Given the description of an element on the screen output the (x, y) to click on. 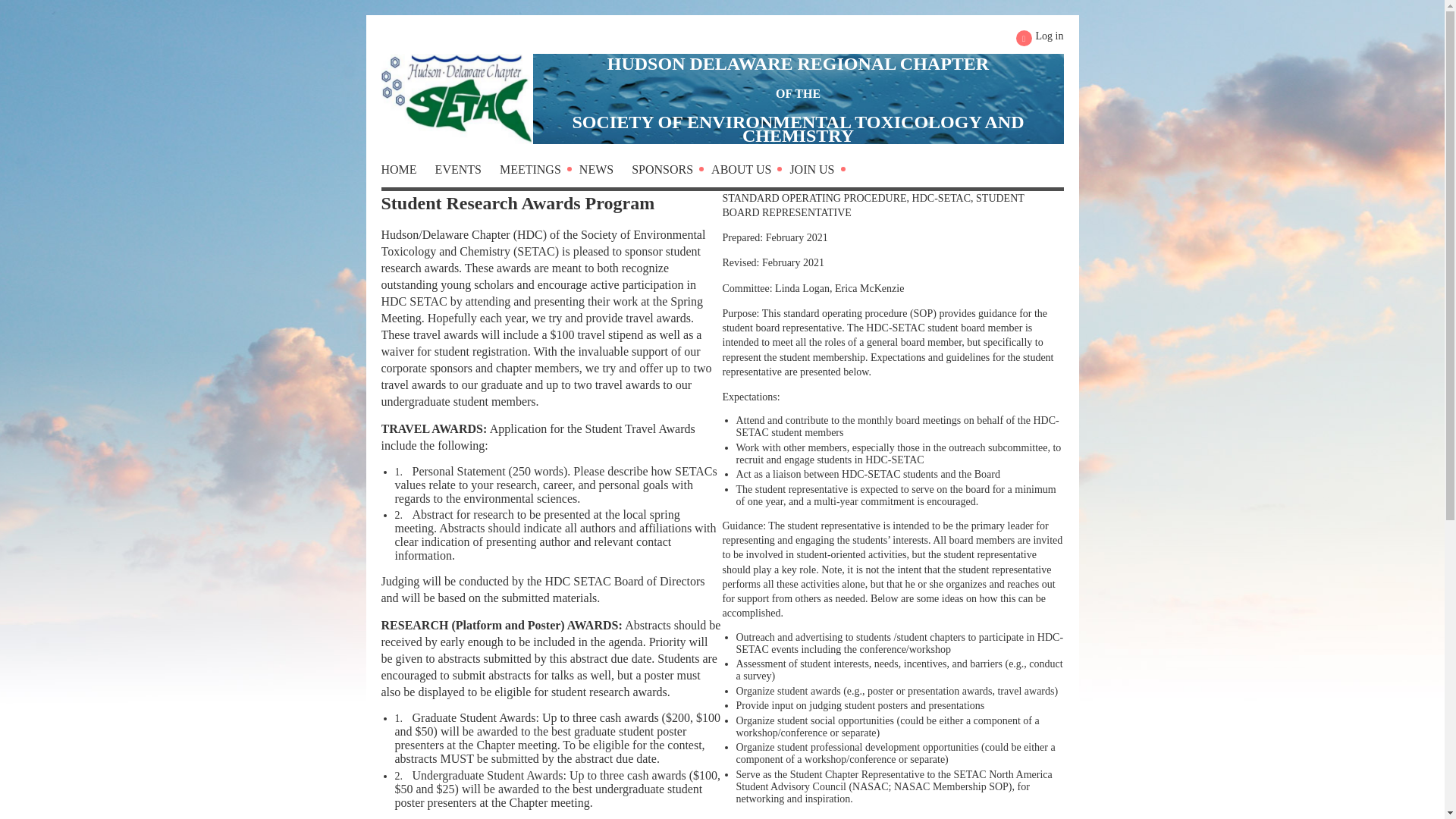
HOME (406, 172)
Sponsors (671, 172)
MEETINGS (539, 172)
Events (467, 172)
EVENTS (467, 172)
News (605, 172)
About Us (750, 172)
Home (406, 172)
NEWS (605, 172)
Log in (1040, 37)
ABOUT US (750, 172)
Meetings (539, 172)
SPONSORS (671, 172)
JOIN US (820, 172)
